Given the description of an element on the screen output the (x, y) to click on. 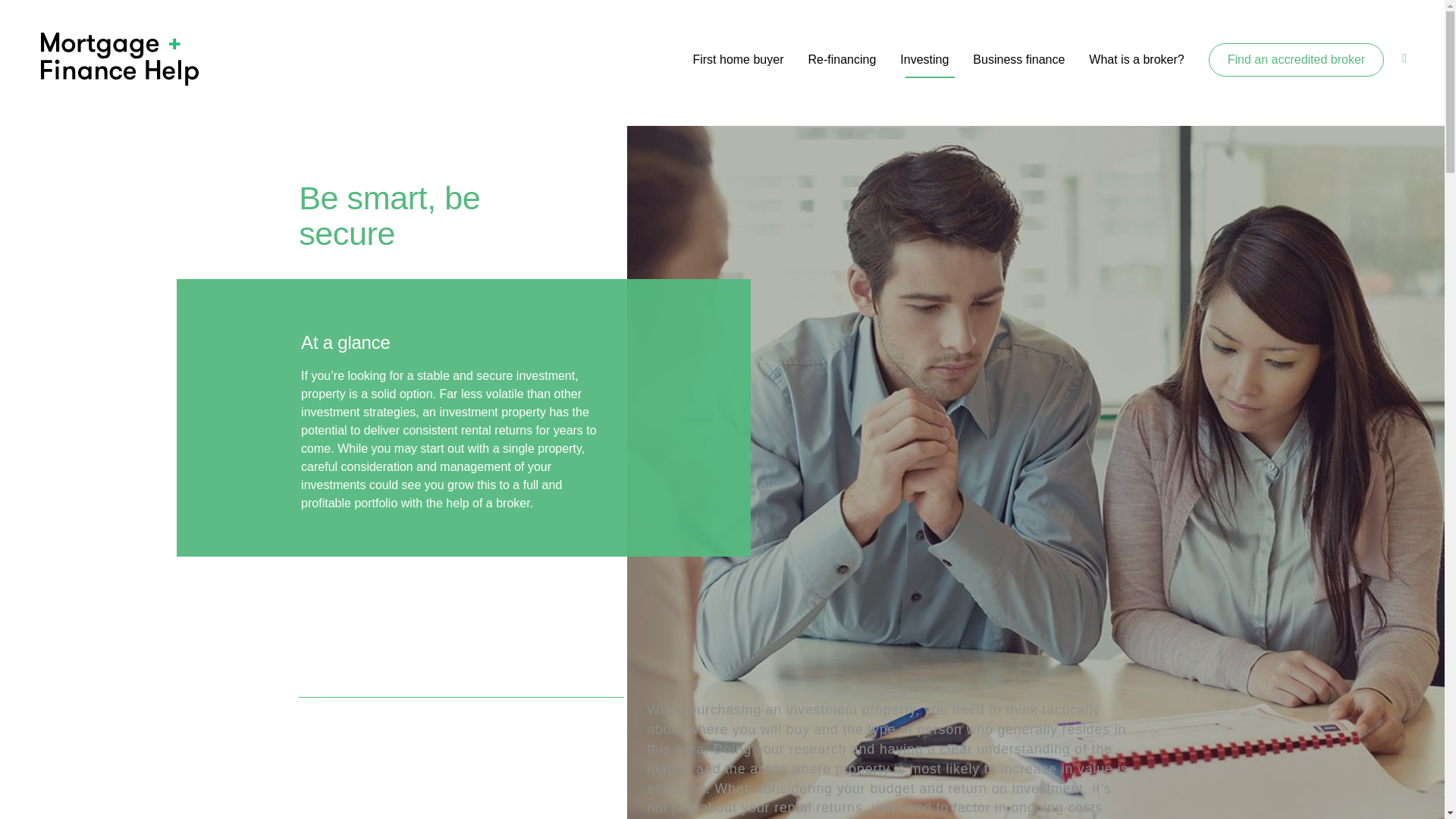
How To Avoid Extra Home Loan Fees (552, 399)
Find an accredited broker (1296, 59)
Re-financing (842, 59)
Finance Broker Or Bank? (552, 444)
How To Save A Deposit (552, 426)
What Do I Need To Know About Debt Consolidation? (721, 399)
Investing (924, 59)
Business finance (1018, 59)
First home buyer (738, 59)
Re-financing (721, 368)
What Is A Reverse Mortgage? (721, 435)
What is a broker? (1136, 59)
First home buyer (552, 368)
